Given the description of an element on the screen output the (x, y) to click on. 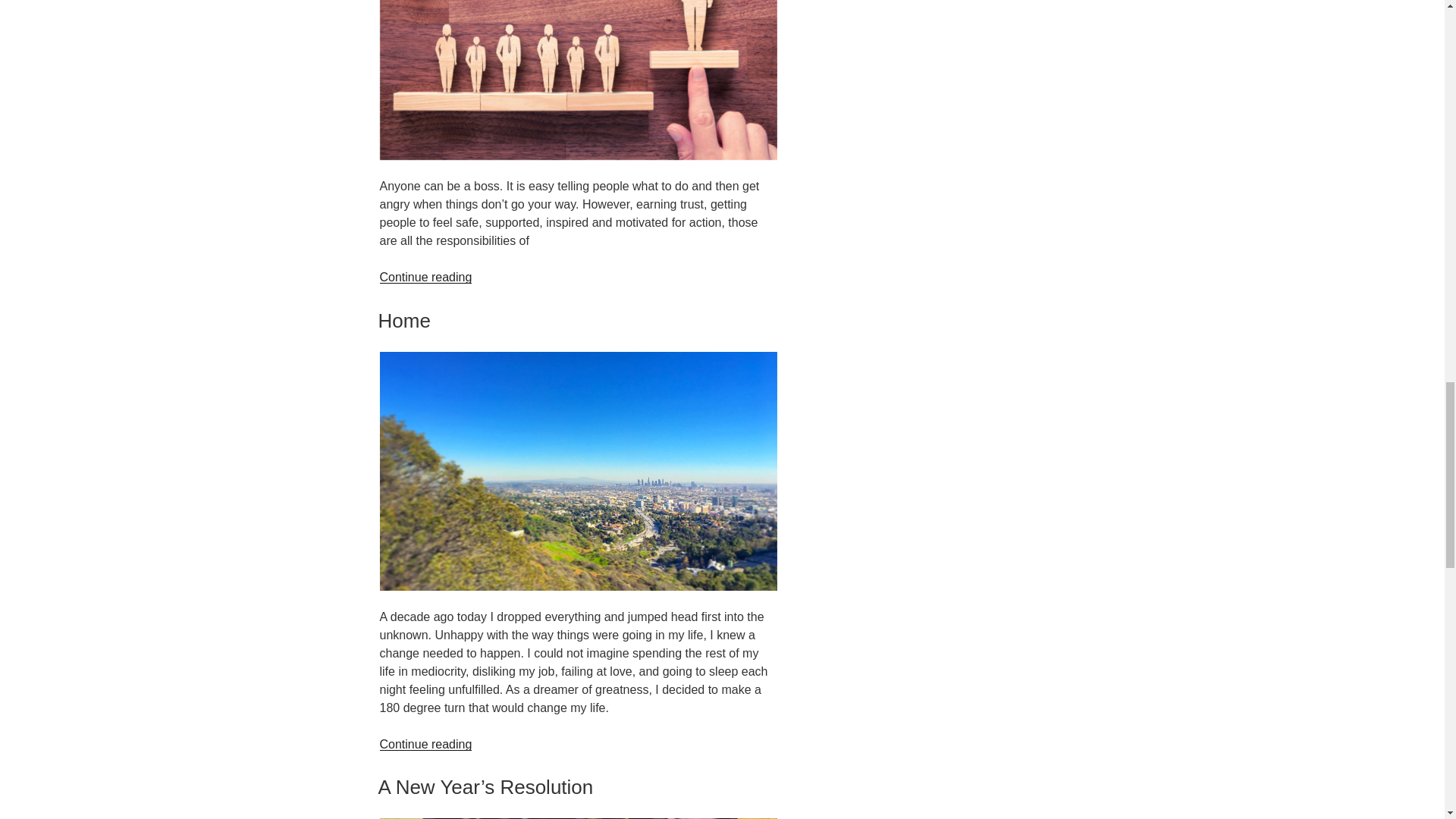
Home (403, 320)
